Given the description of an element on the screen output the (x, y) to click on. 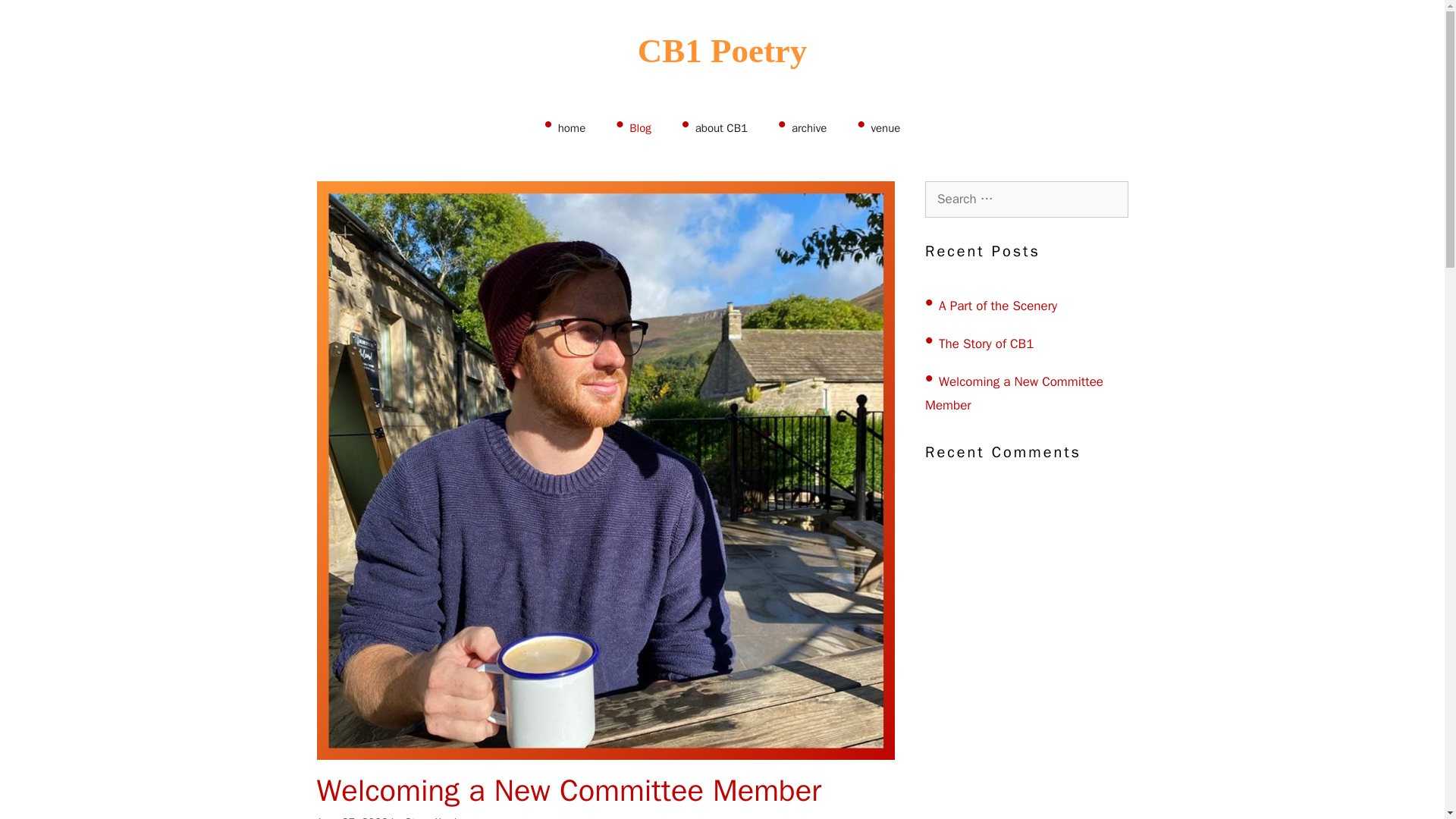
4:03 pm (352, 816)
Search (35, 18)
Welcoming a New Committee Member (1013, 392)
about CB1 (714, 125)
The Story of CB1 (978, 342)
Blog (632, 125)
Steve Xerri (430, 816)
June 27, 2023 (352, 816)
View all posts by Steve Xerri (430, 816)
Search for: (1026, 198)
archive (801, 125)
venue (878, 125)
CB1 Poetry (722, 50)
A Part of the Scenery (990, 304)
home (565, 125)
